Given the description of an element on the screen output the (x, y) to click on. 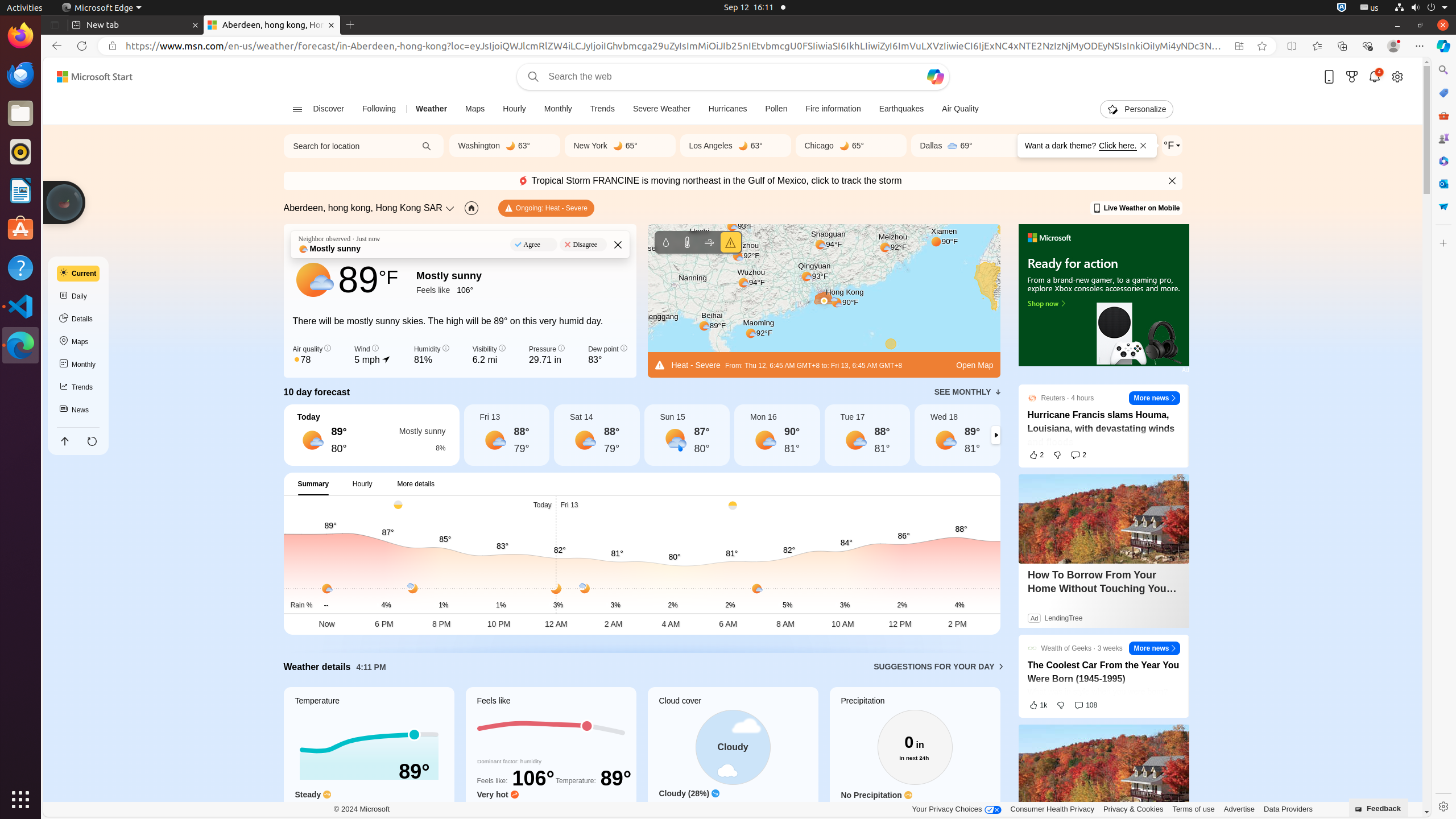
Monthly Element type: link (557, 108)
Switch right Element type: push-button (995, 434)
More news Element type: push-button (1154, 397)
Skip to content Element type: push-button (89, 76)
Show Applications Element type: toggle-button (20, 799)
